Given the description of an element on the screen output the (x, y) to click on. 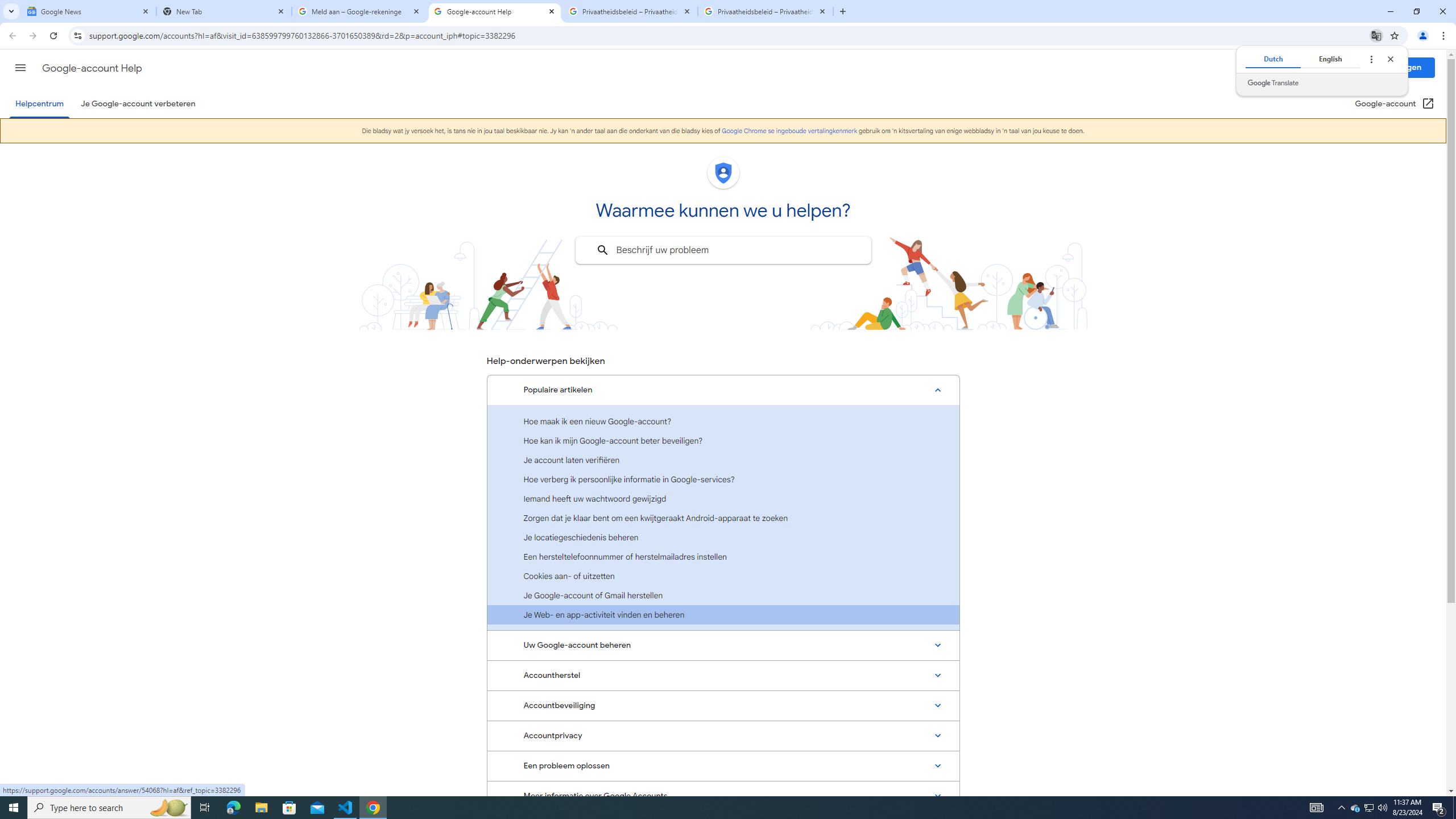
New Tab (224, 11)
Google-account Help (494, 11)
Je Google-account of Gmail herstellen (722, 595)
Hoofdmenu (20, 67)
Je locatiegeschiedenis beheren (722, 537)
Inloggen (1404, 67)
Translate this page (1376, 35)
